Given the description of an element on the screen output the (x, y) to click on. 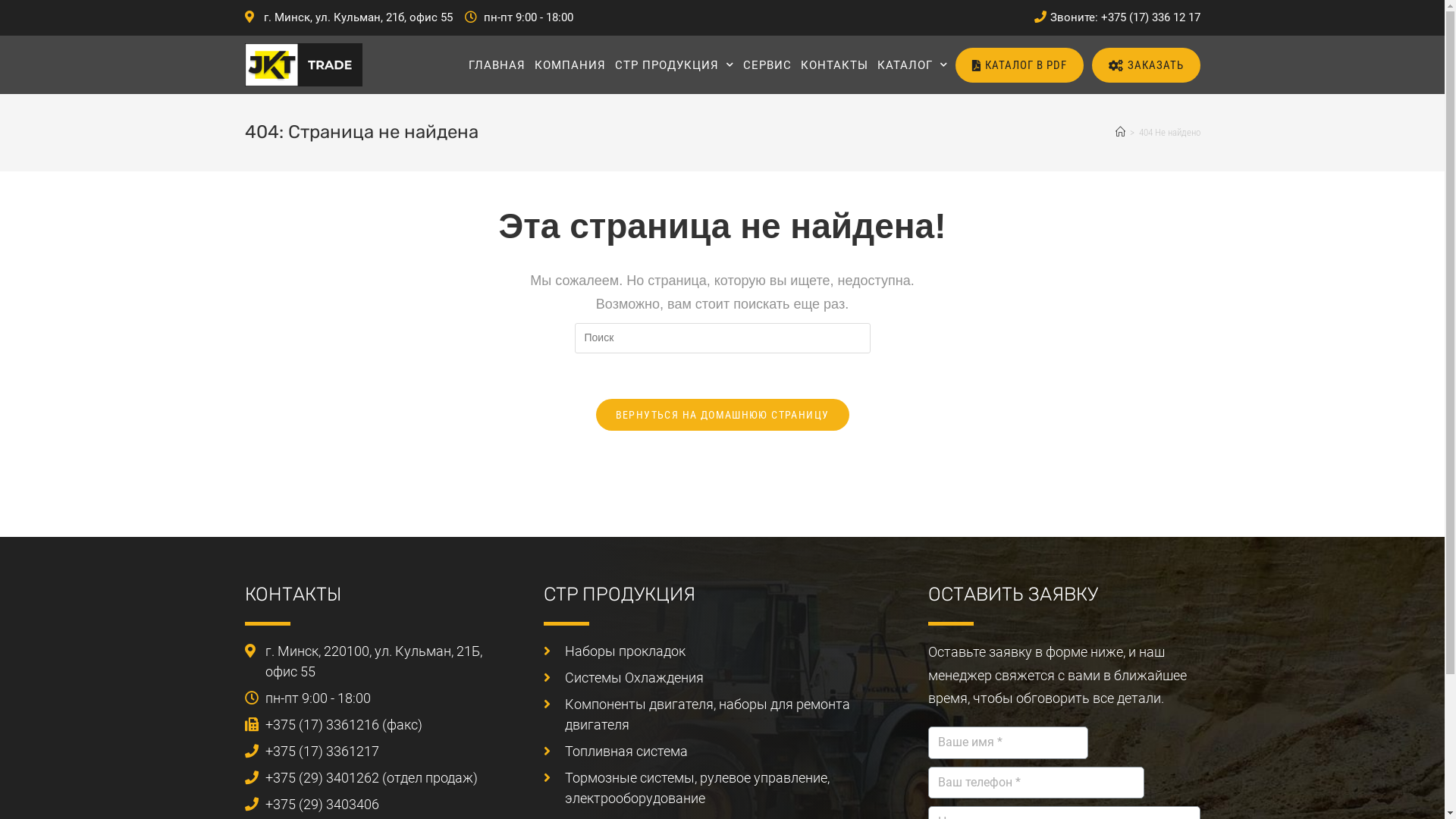
+375 (17) 3361217 Element type: text (378, 750)
+375 (29) 3403406 Element type: text (378, 803)
